Given the description of an element on the screen output the (x, y) to click on. 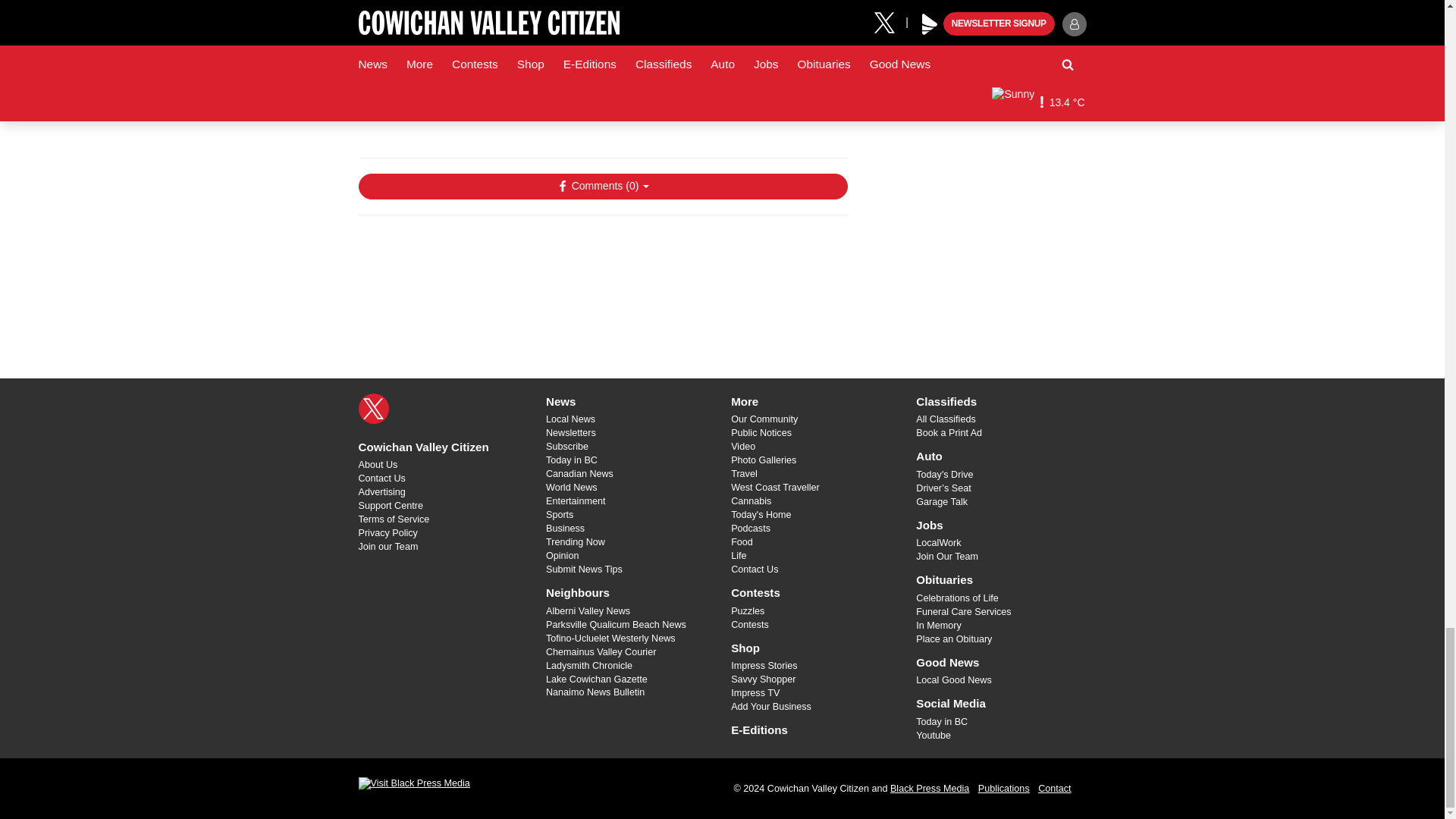
X (373, 408)
Show Comments (602, 186)
